Given the description of an element on the screen output the (x, y) to click on. 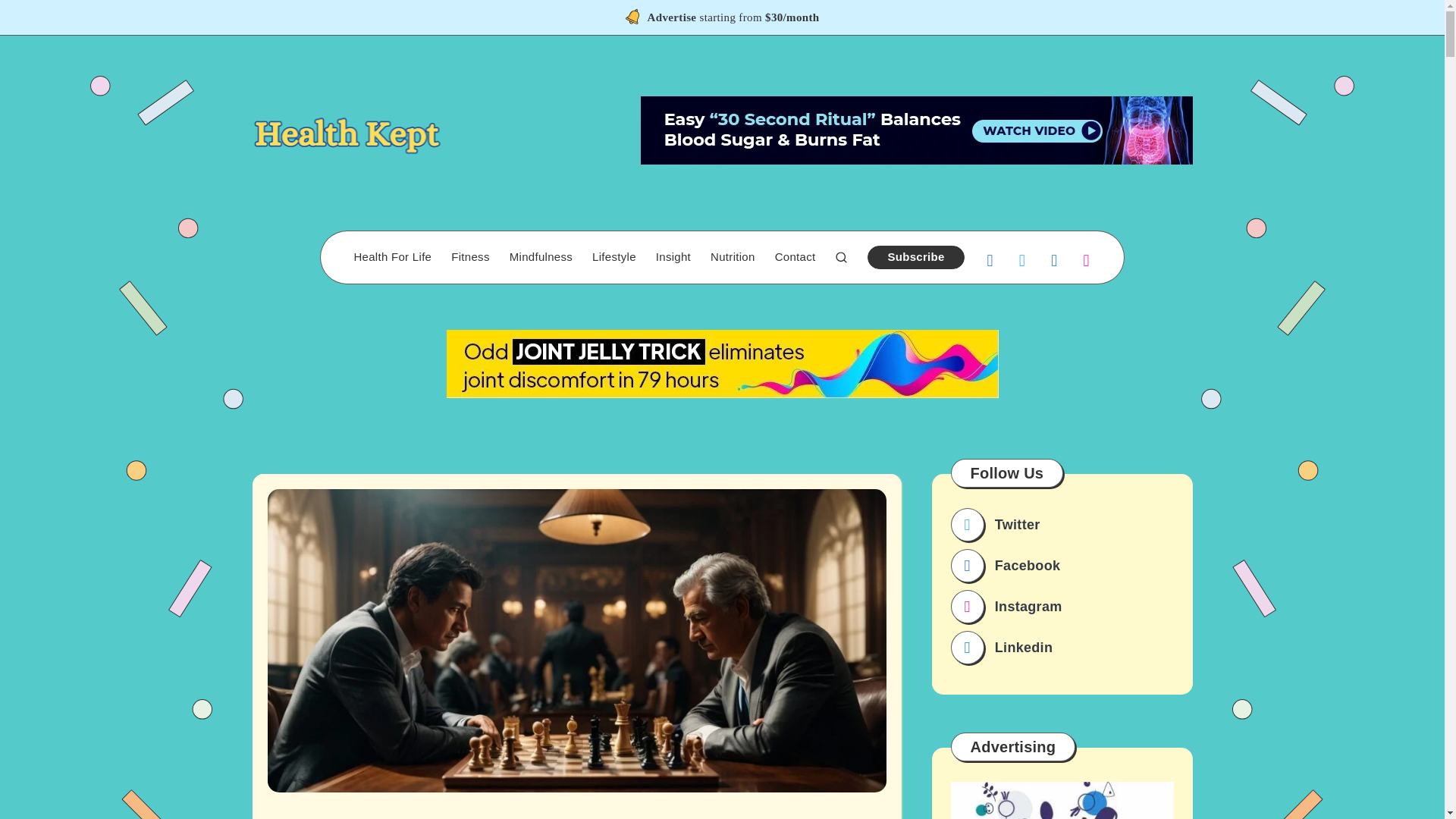
Contact (794, 257)
Fitness (470, 257)
Subscribe (915, 257)
Advertise (672, 19)
Insight (673, 257)
Mindfulness (540, 257)
Nutrition (732, 257)
Health For Life (391, 257)
Lifestyle (614, 257)
